Given the description of an element on the screen output the (x, y) to click on. 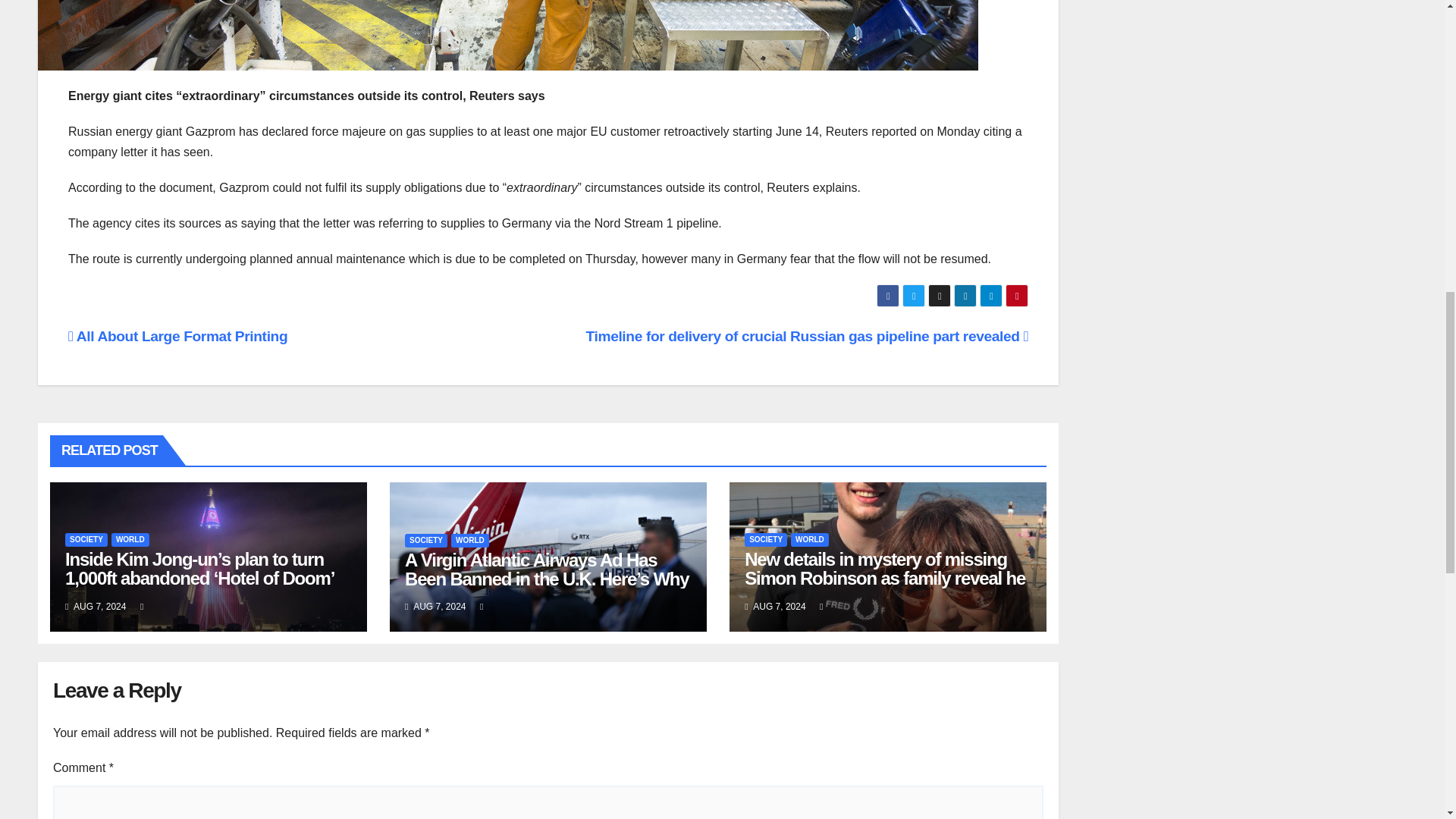
WORLD (809, 540)
WORLD (130, 540)
SOCIETY (86, 540)
SOCIETY (765, 540)
SOCIETY (425, 540)
WORLD (470, 540)
All About Large Format Printing (177, 335)
